Given the description of an element on the screen output the (x, y) to click on. 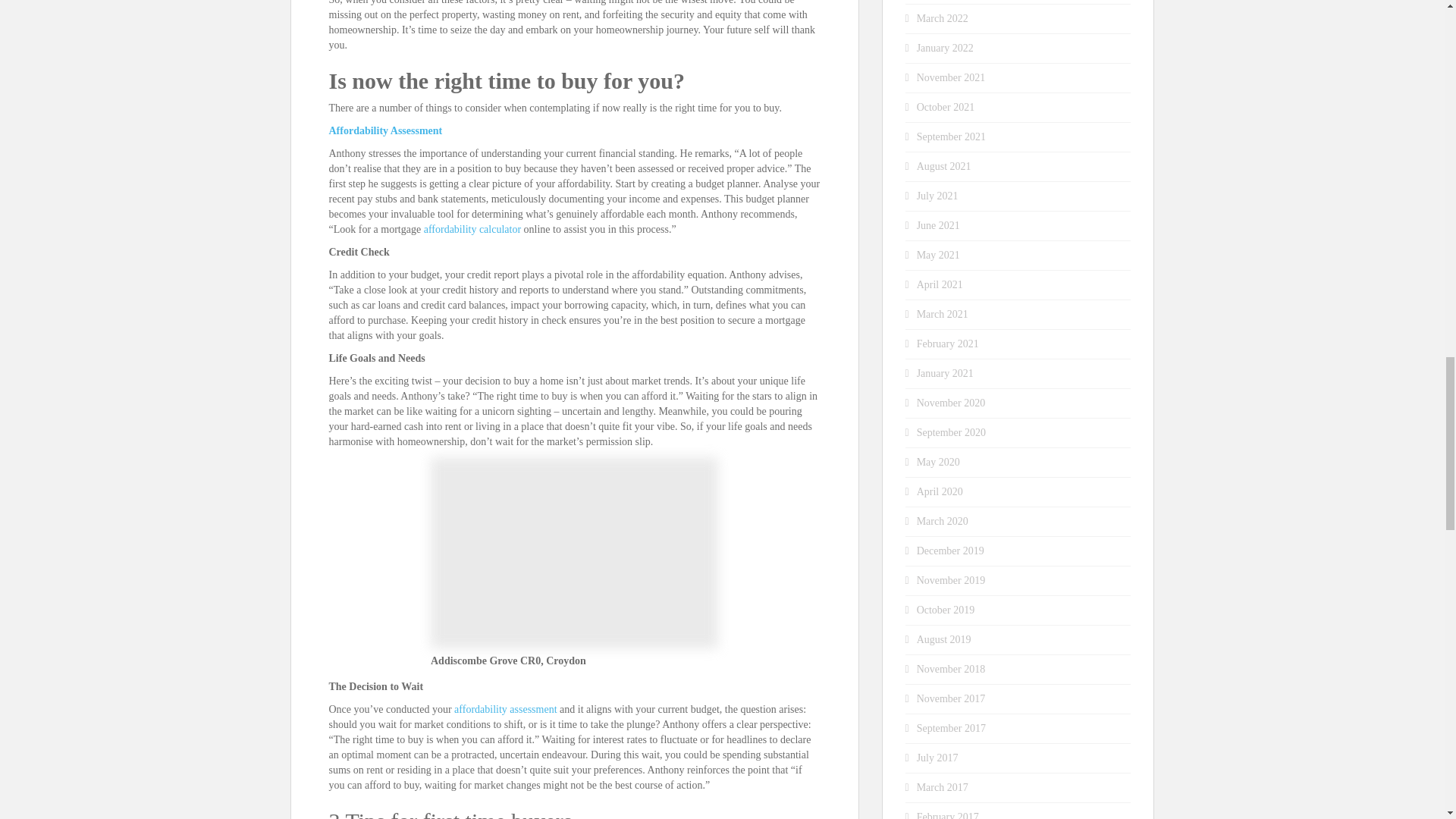
affordability assessment (505, 708)
Affordability Assessment (385, 130)
affordability calculator (472, 229)
